Given the description of an element on the screen output the (x, y) to click on. 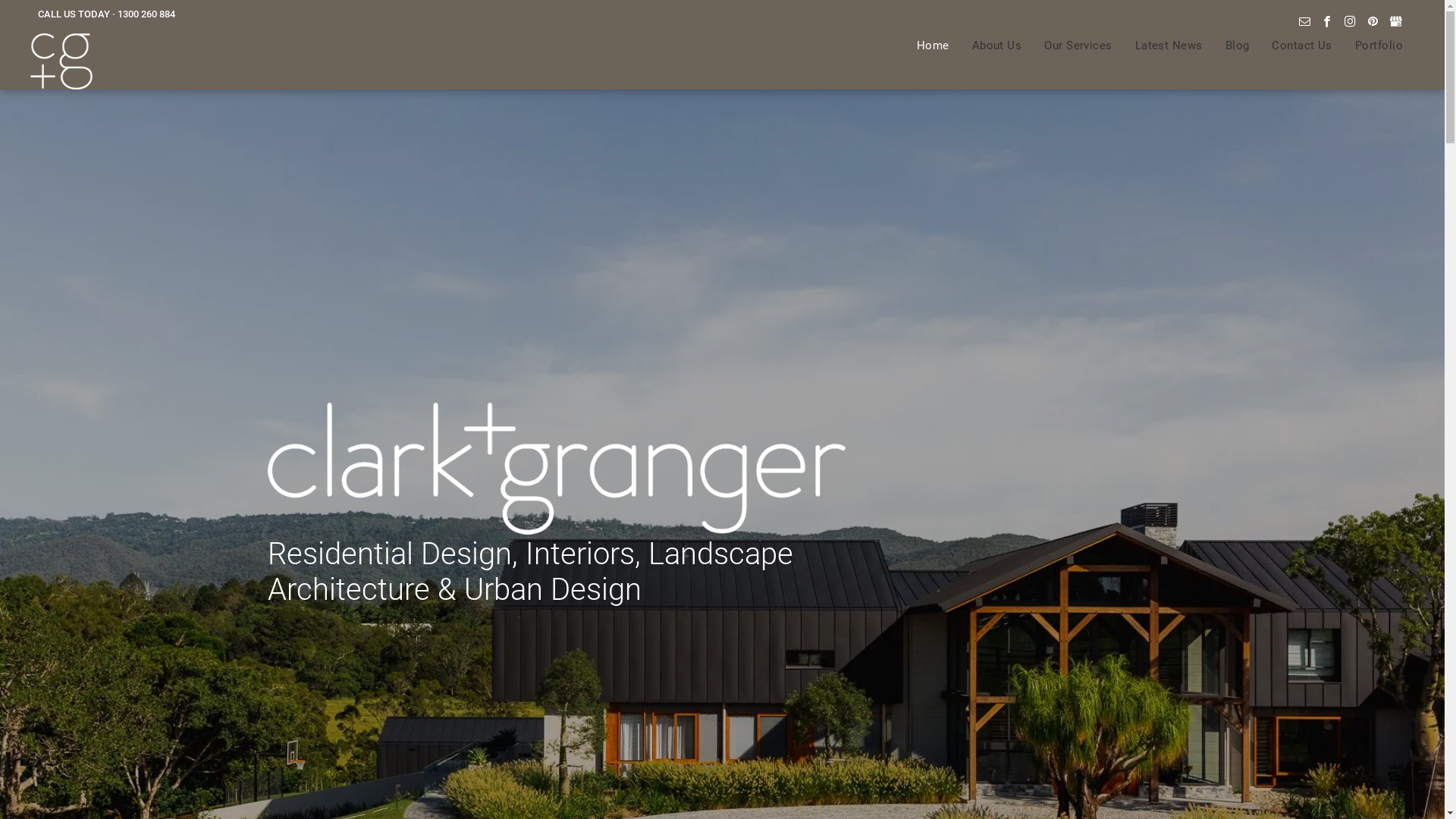
Latest News Element type: text (1168, 45)
Home Element type: text (932, 45)
Blog Element type: text (1237, 45)
Our Services Element type: text (1077, 45)
Portfolio Element type: text (1378, 45)
About Us Element type: text (996, 45)
Contact Us Element type: text (1301, 45)
